Given the description of an element on the screen output the (x, y) to click on. 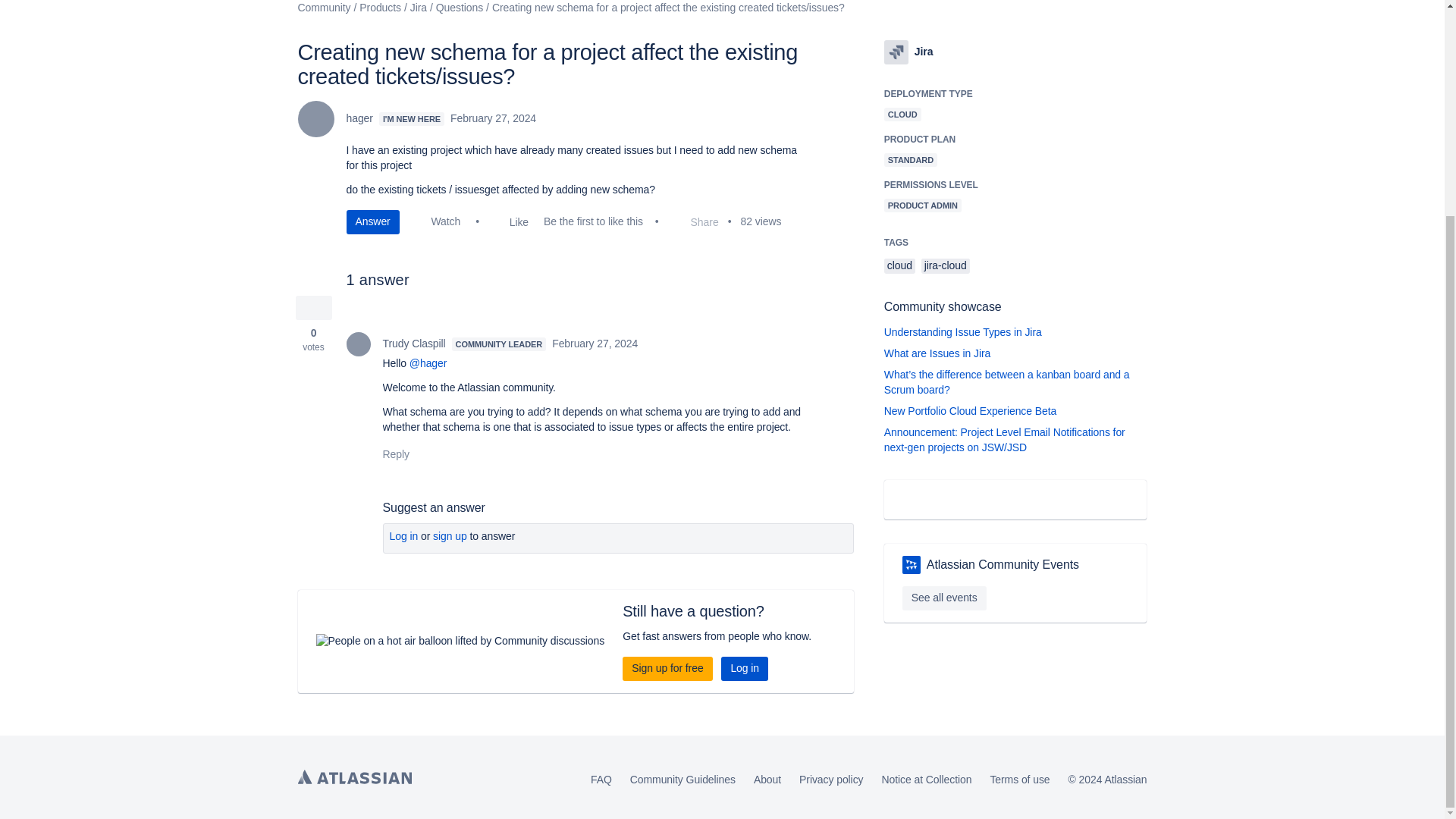
Trudy Claspill (357, 344)
AUG Leaders (911, 565)
hager (315, 118)
Jira (895, 52)
